Given the description of an element on the screen output the (x, y) to click on. 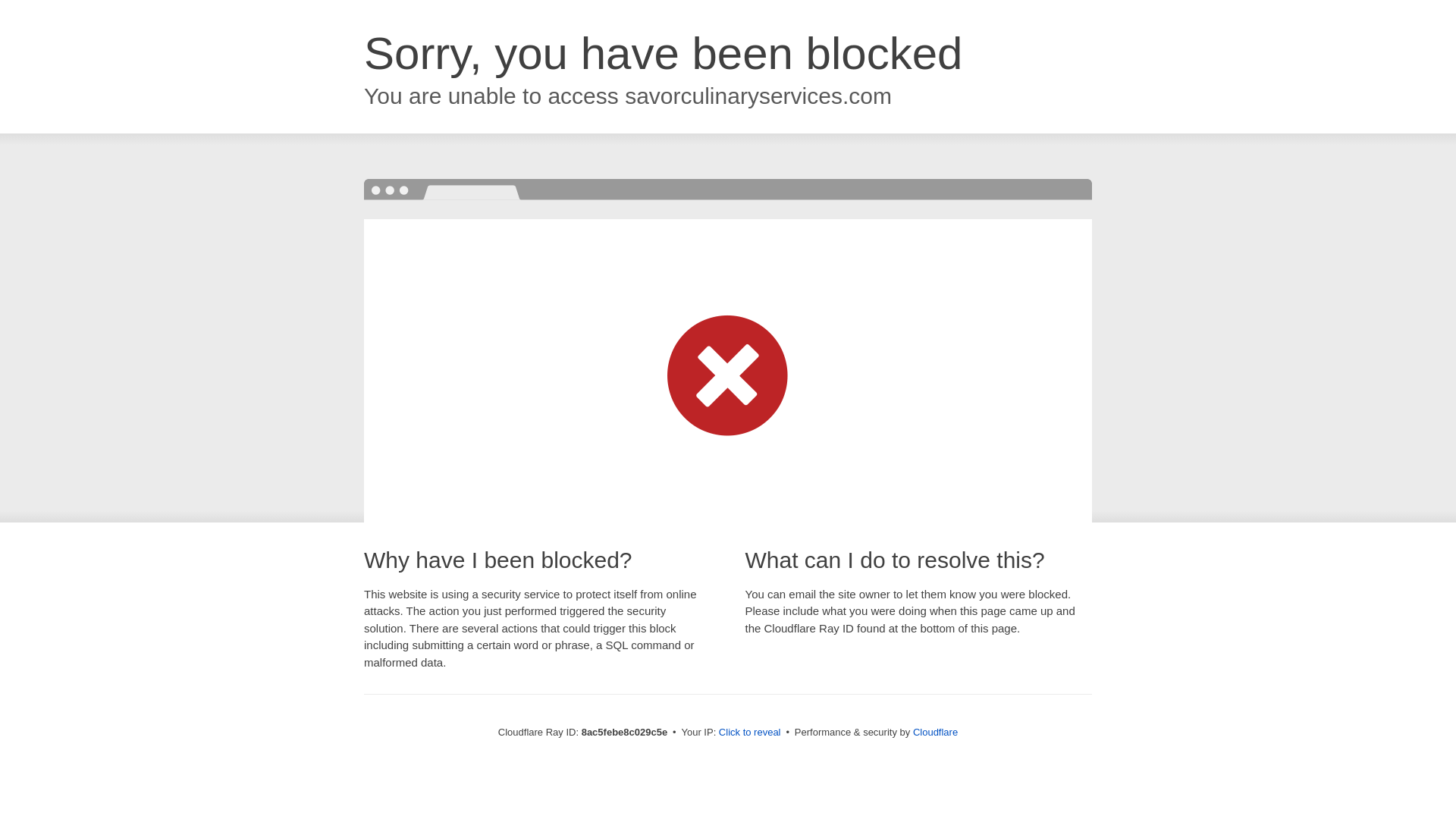
Cloudflare (935, 731)
Click to reveal (749, 732)
